Given the description of an element on the screen output the (x, y) to click on. 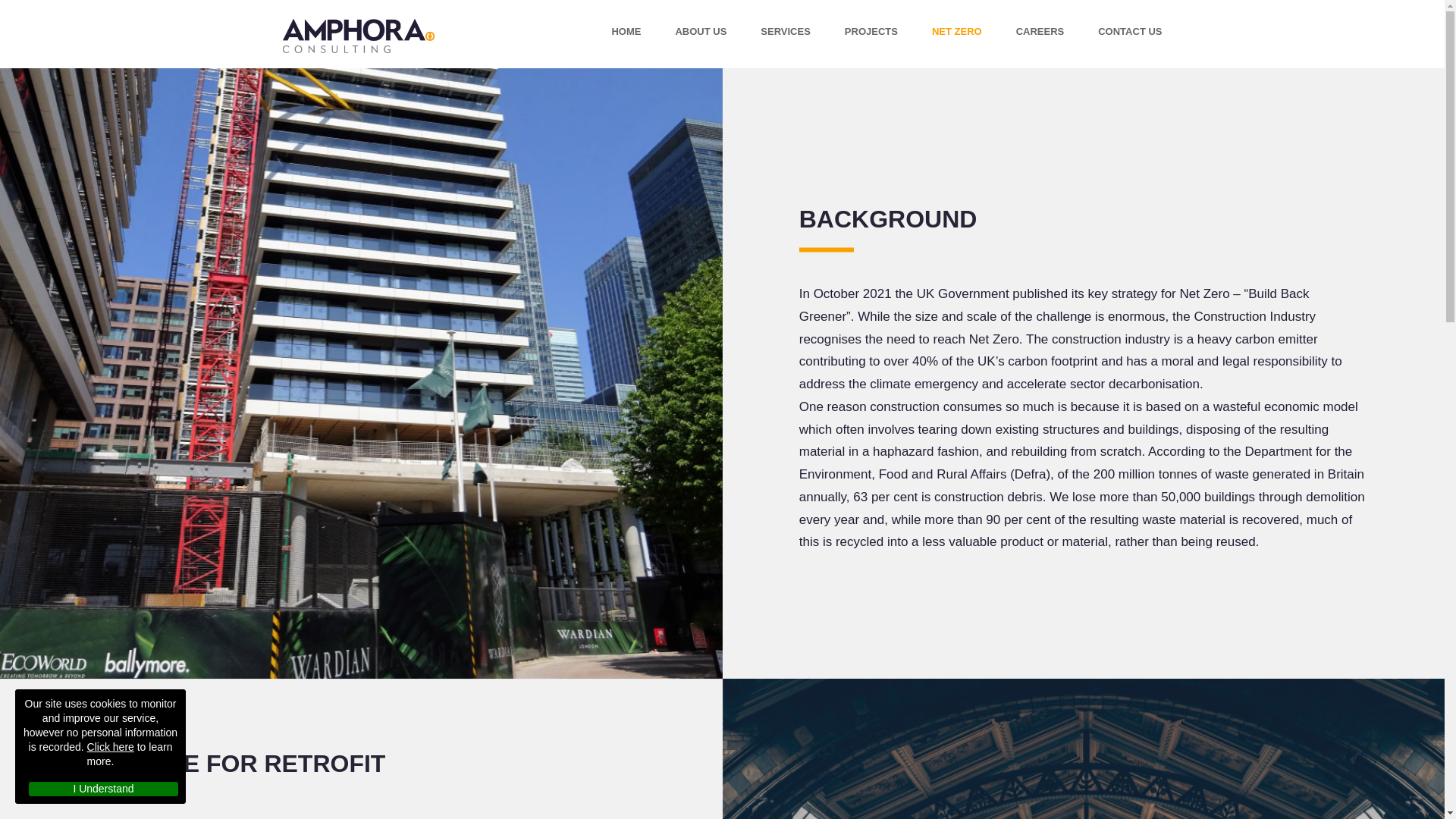
NET ZERO (956, 25)
HOME (625, 21)
Click here (110, 735)
SERVICES (785, 23)
PROJECTS (871, 24)
I Understand (103, 777)
CONTACT US (1129, 26)
CAREERS (1040, 25)
ABOUT US (700, 21)
